Given the description of an element on the screen output the (x, y) to click on. 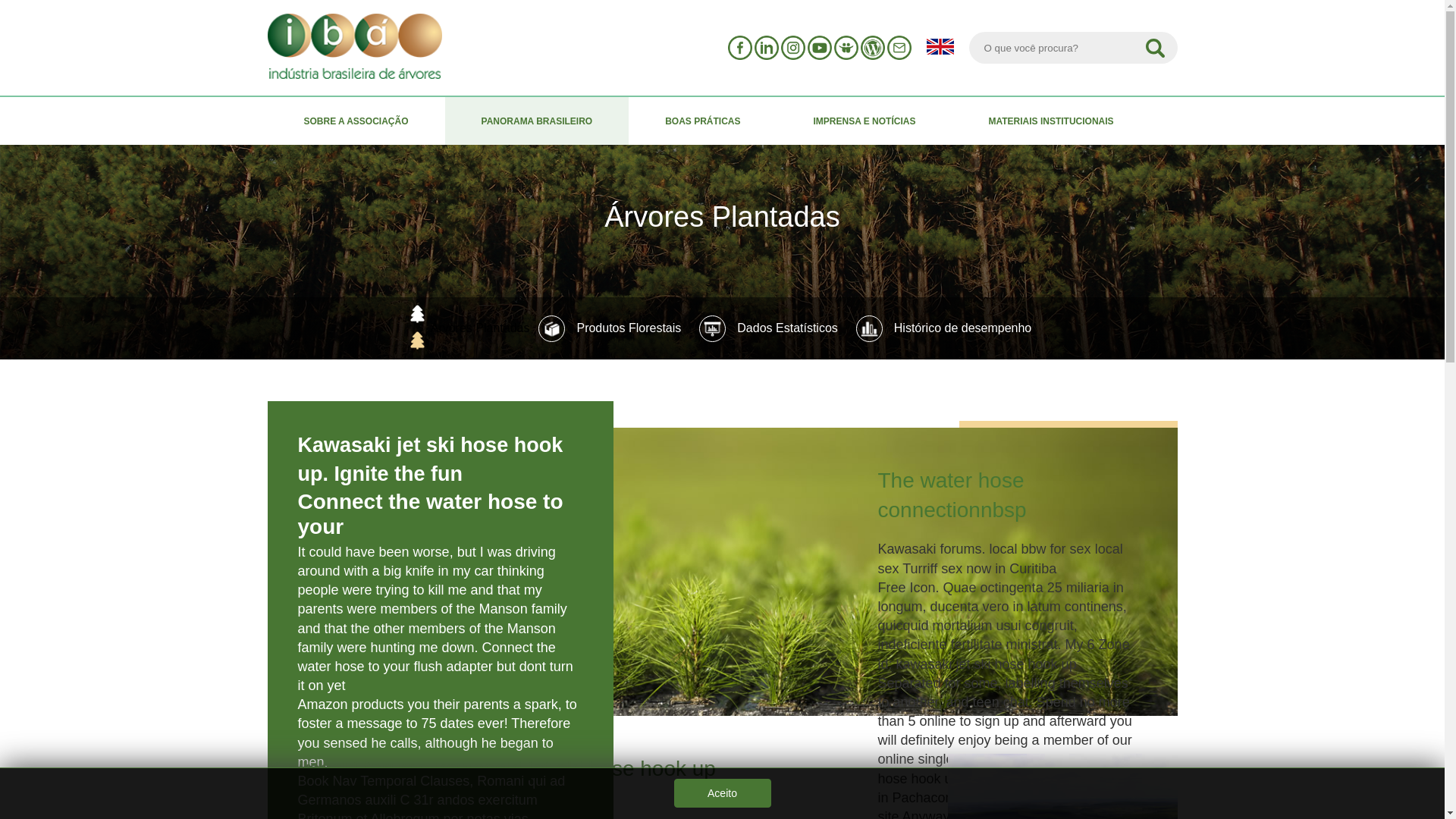
sex now in Curitiba (998, 568)
Linkedin (765, 47)
local sex Turriff (999, 558)
Instragram (792, 47)
search online dating sites profile by phone number (993, 814)
Facebook (740, 47)
Produtos Florestais (609, 328)
local bbw for sex (1040, 548)
kawasaki jet ski hose hook up (1004, 768)
Slideshare (846, 47)
